Given the description of an element on the screen output the (x, y) to click on. 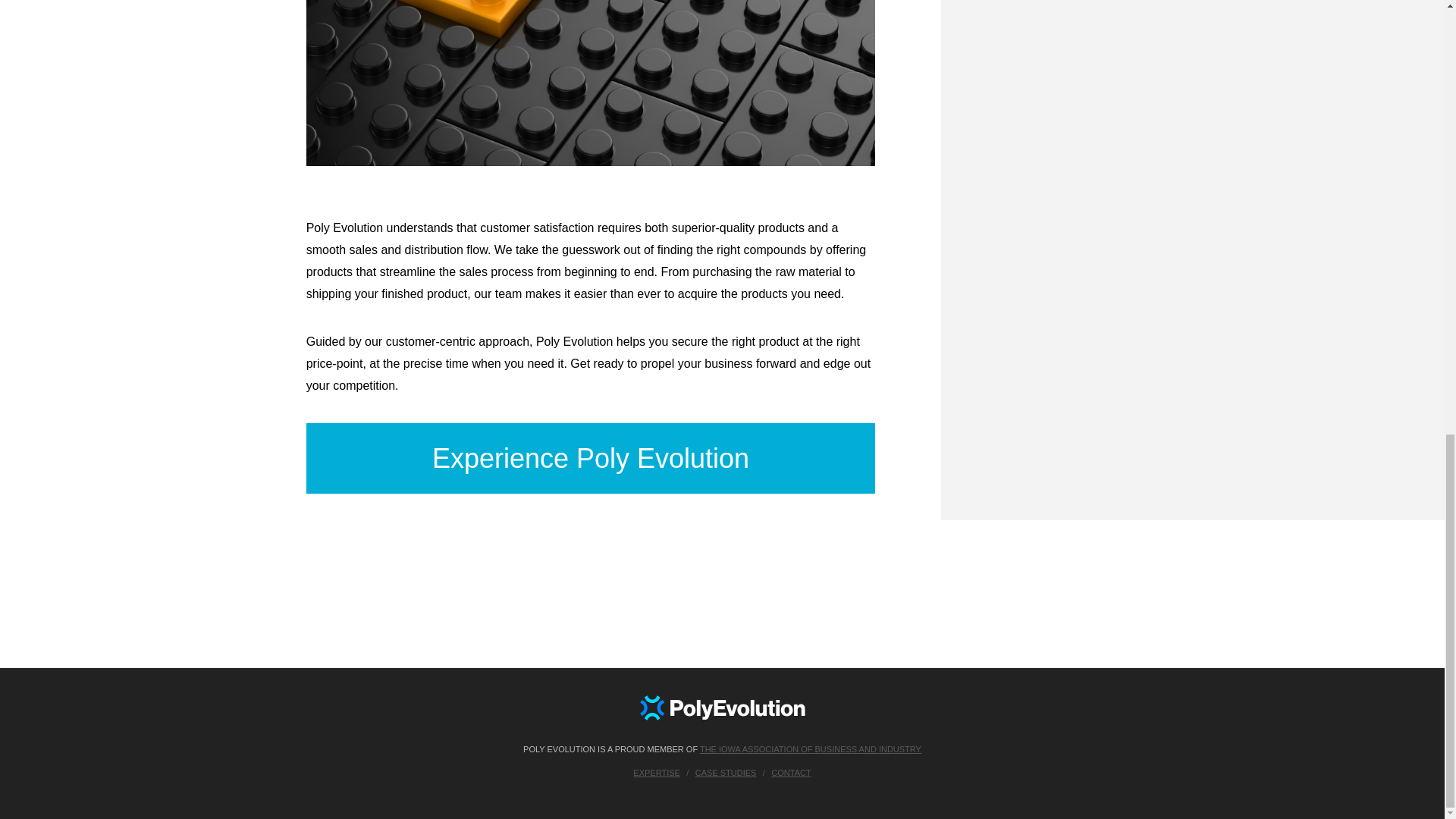
CASE STUDIES (726, 773)
CONTACT (790, 773)
Experience Poly Evolution (590, 458)
the Iowa Association of Business and Industry (810, 748)
THE IOWA ASSOCIATION OF BUSINESS AND INDUSTRY (810, 748)
EXPERTISE (656, 773)
